Given the description of an element on the screen output the (x, y) to click on. 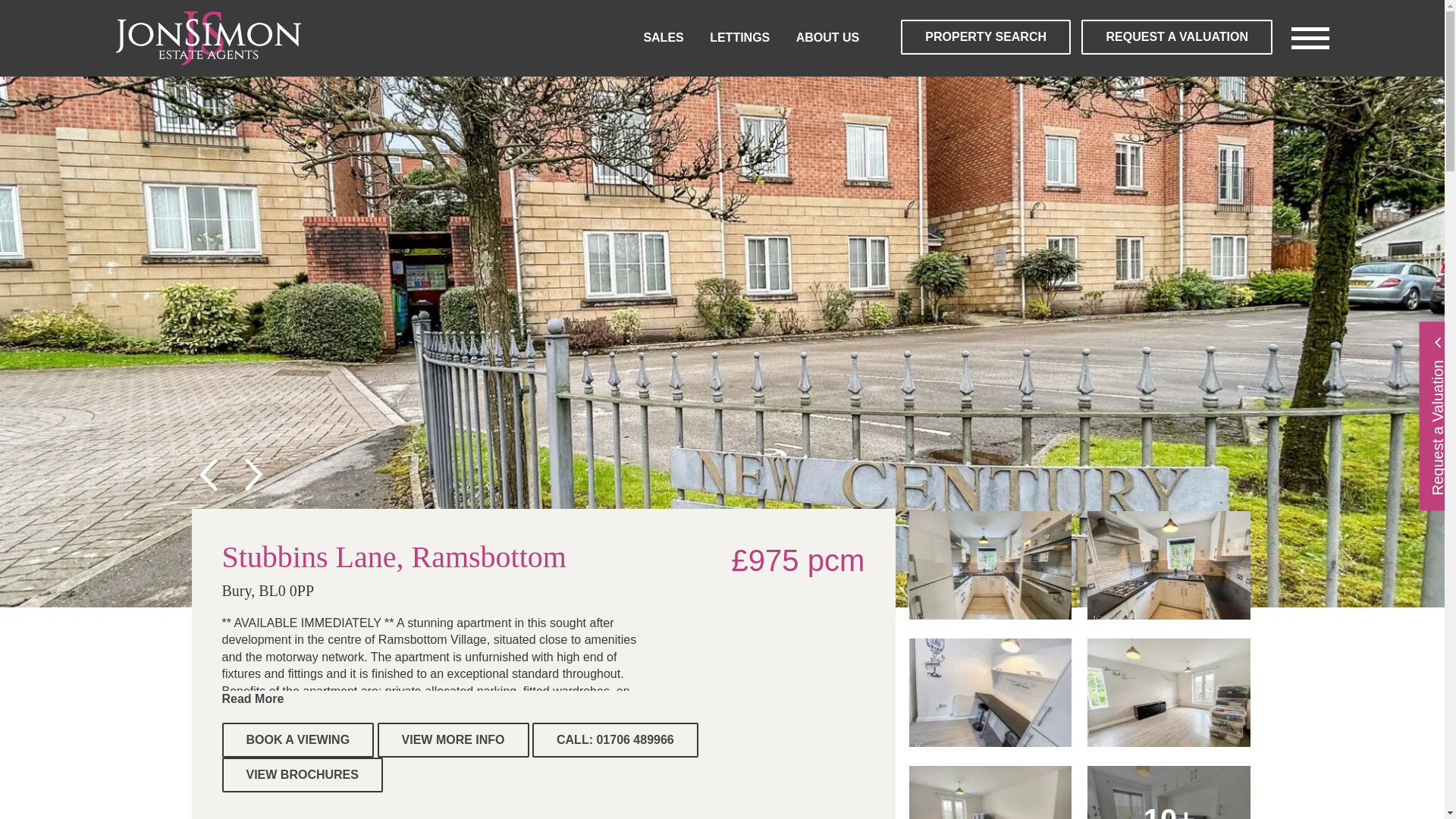
Property Search (985, 36)
BOOK A VIEWING (297, 739)
REQUEST A VALUATION (1176, 36)
SALES (662, 37)
VIEW BROCHURES (301, 774)
LETTINGS (740, 37)
VIEW MORE INFO (453, 739)
CALL: 01706 489966 (615, 739)
PROPERTY SEARCH (985, 36)
Request a valuation (1176, 36)
ABOUT US (828, 37)
Read More (252, 698)
